Given the description of an element on the screen output the (x, y) to click on. 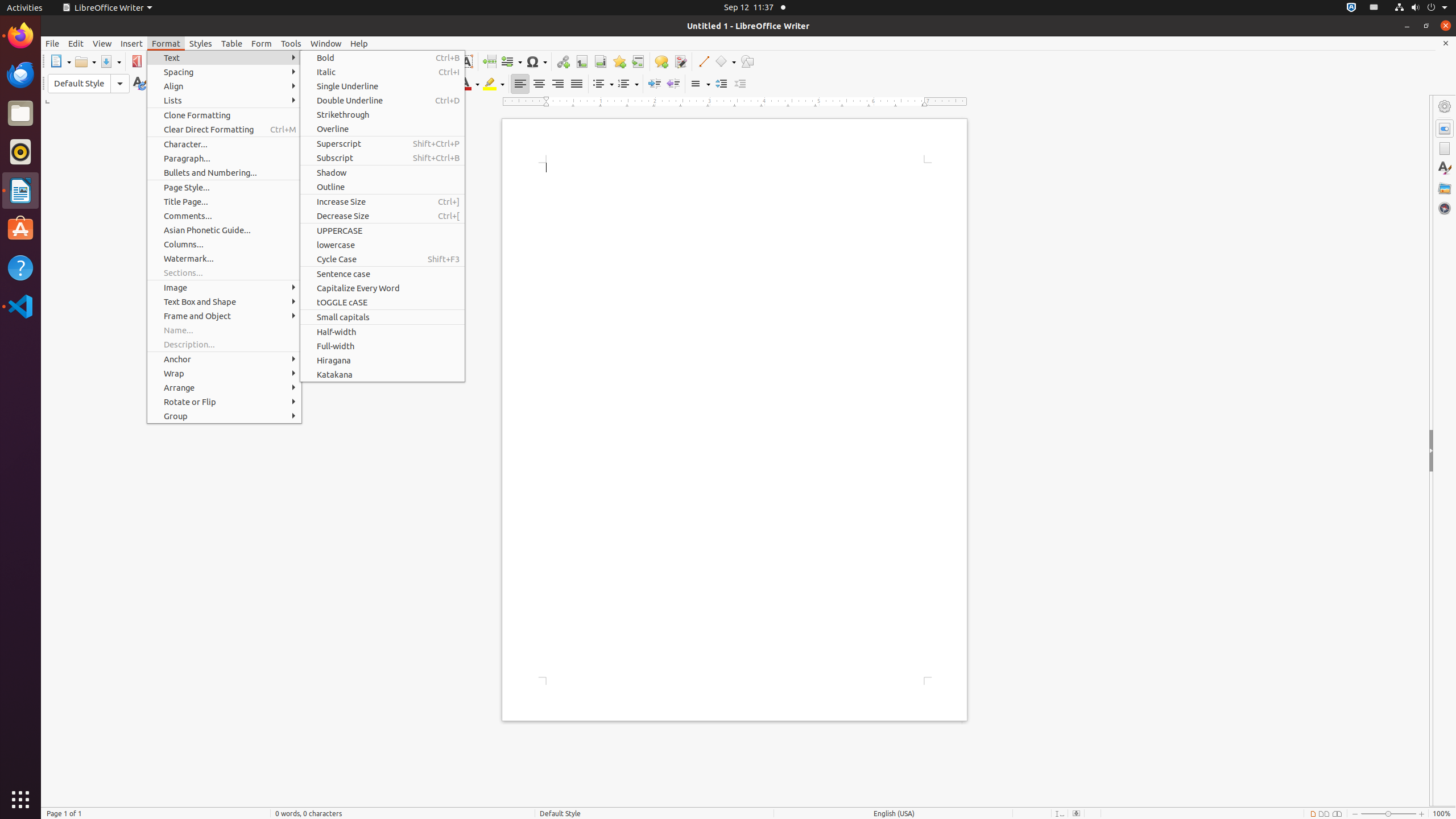
View Element type: menu (102, 43)
:1.72/StatusNotifierItem Element type: menu (1350, 7)
Page Style... Element type: menu-item (224, 187)
Font Color Element type: push-button (468, 83)
Spacing Element type: menu (224, 71)
